Given the description of an element on the screen output the (x, y) to click on. 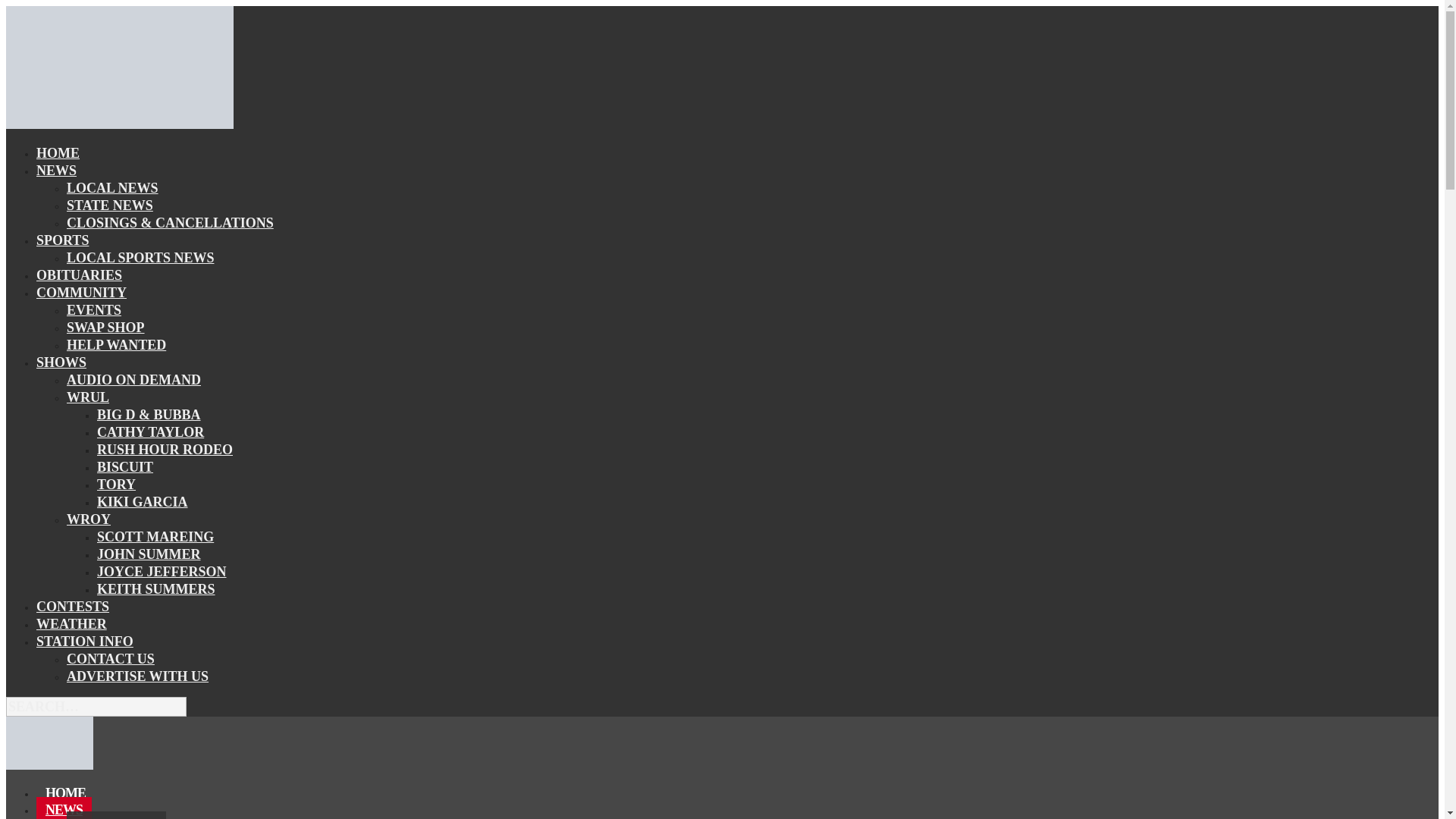
KEITH SUMMERS (156, 588)
WEATHER (71, 623)
HOME (58, 152)
STATE NEWS (109, 205)
WRUL (87, 396)
CONTESTS (72, 606)
STATION INFO (84, 640)
JOYCE JEFFERSON (162, 571)
HOME (65, 792)
SHOWS (60, 362)
AUDIO ON DEMAND (133, 379)
COMMUNITY (81, 292)
TORY (116, 484)
KIKI GARCIA (142, 501)
JOHN SUMMER (148, 554)
